Given the description of an element on the screen output the (x, y) to click on. 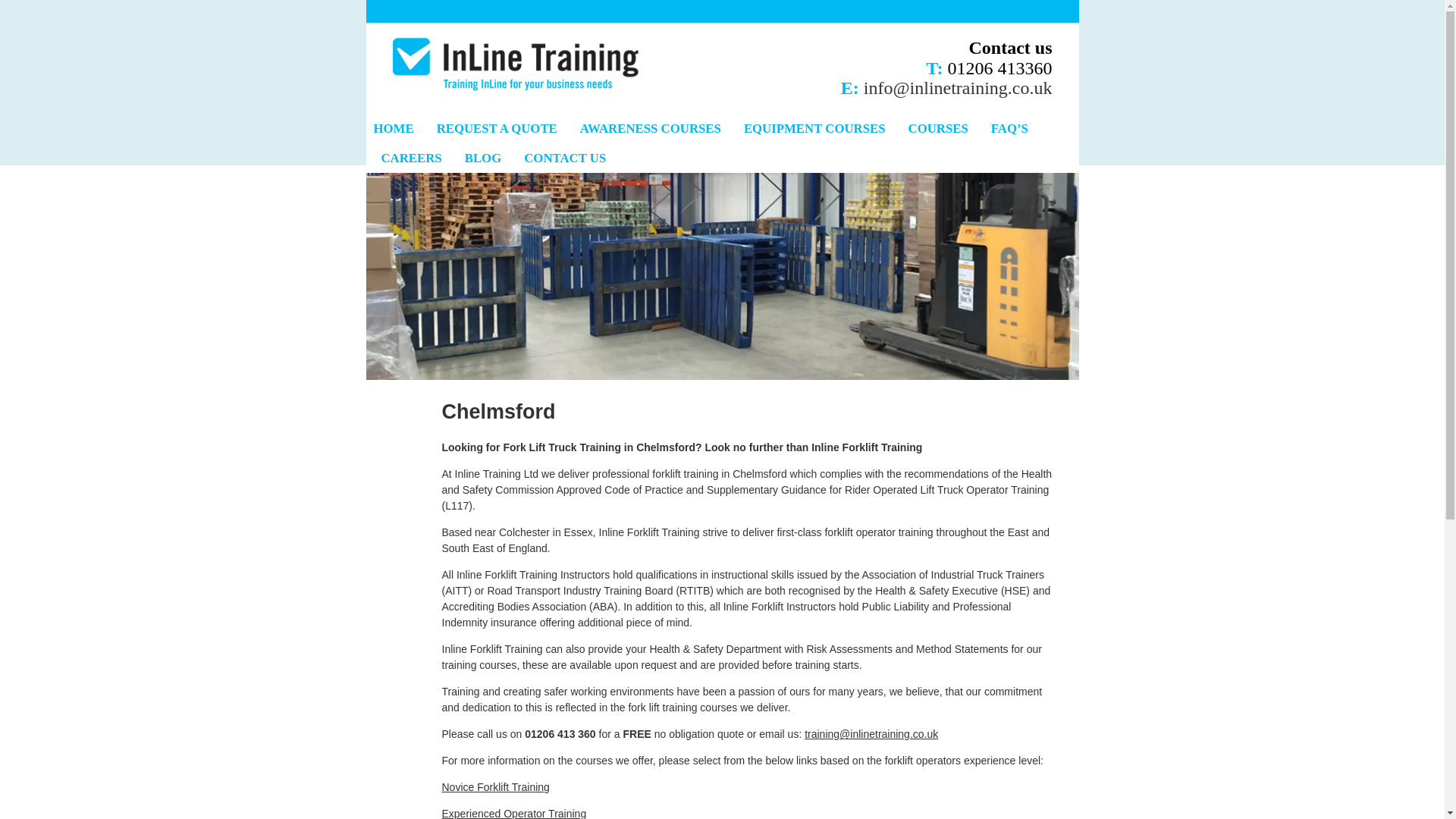
COURSES (938, 128)
Back To The Start (392, 128)
Novice Forklift Training (494, 787)
EQUIPMENT COURSES (814, 128)
Forklift Trucks and Equipment (814, 128)
AWARENESS COURSES (650, 128)
Get your quote today (496, 128)
BLOG (483, 157)
HOME (392, 128)
